Given the description of an element on the screen output the (x, y) to click on. 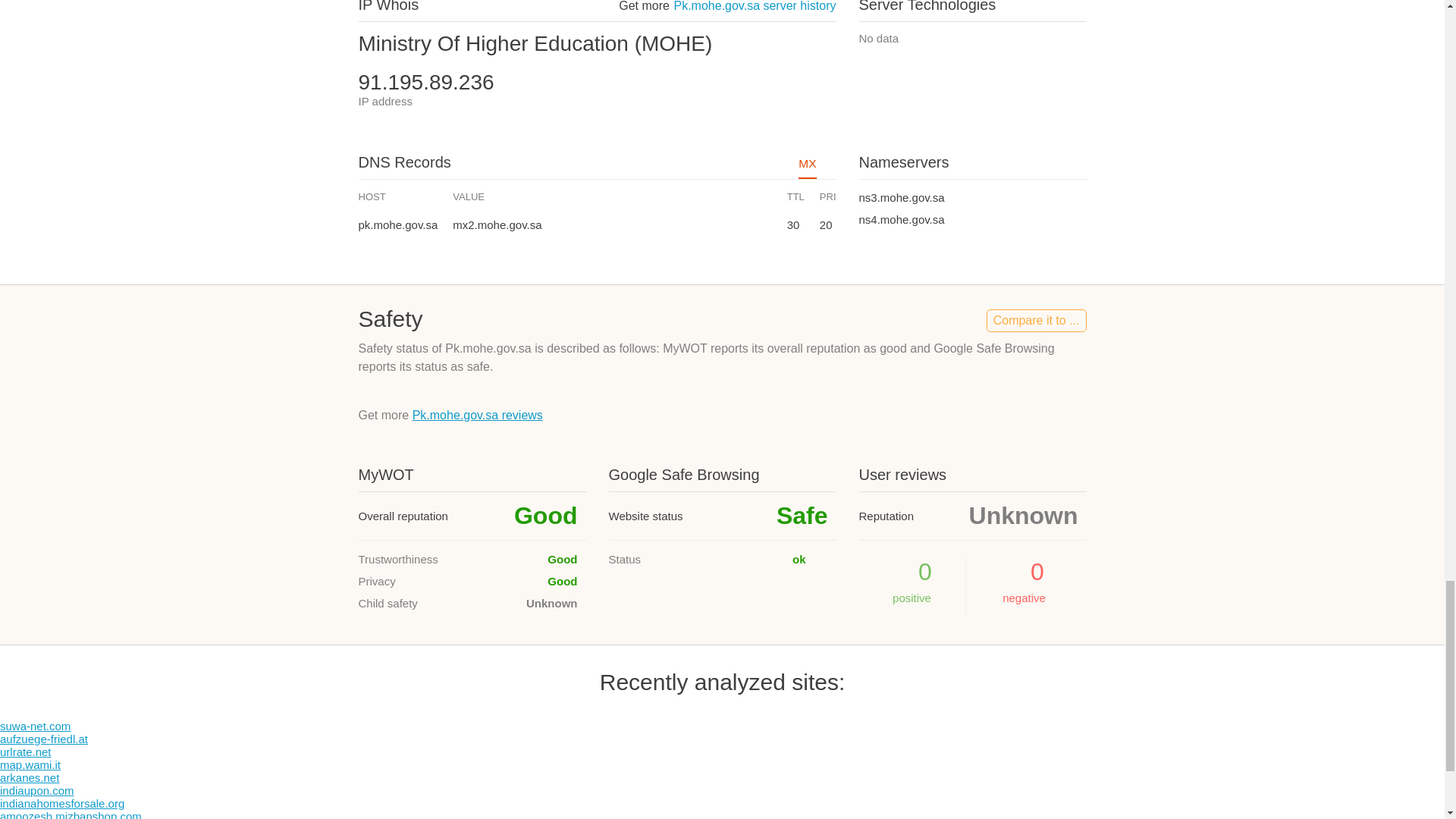
Pk.mohe.gov.sa server history (753, 6)
Pk.mohe.gov.sa reviews (477, 414)
Compare it to ... (1036, 320)
suwa-net.com (34, 725)
urlrate.net (25, 751)
MX (806, 168)
aufzuege-friedl.at (43, 738)
